Given the description of an element on the screen output the (x, y) to click on. 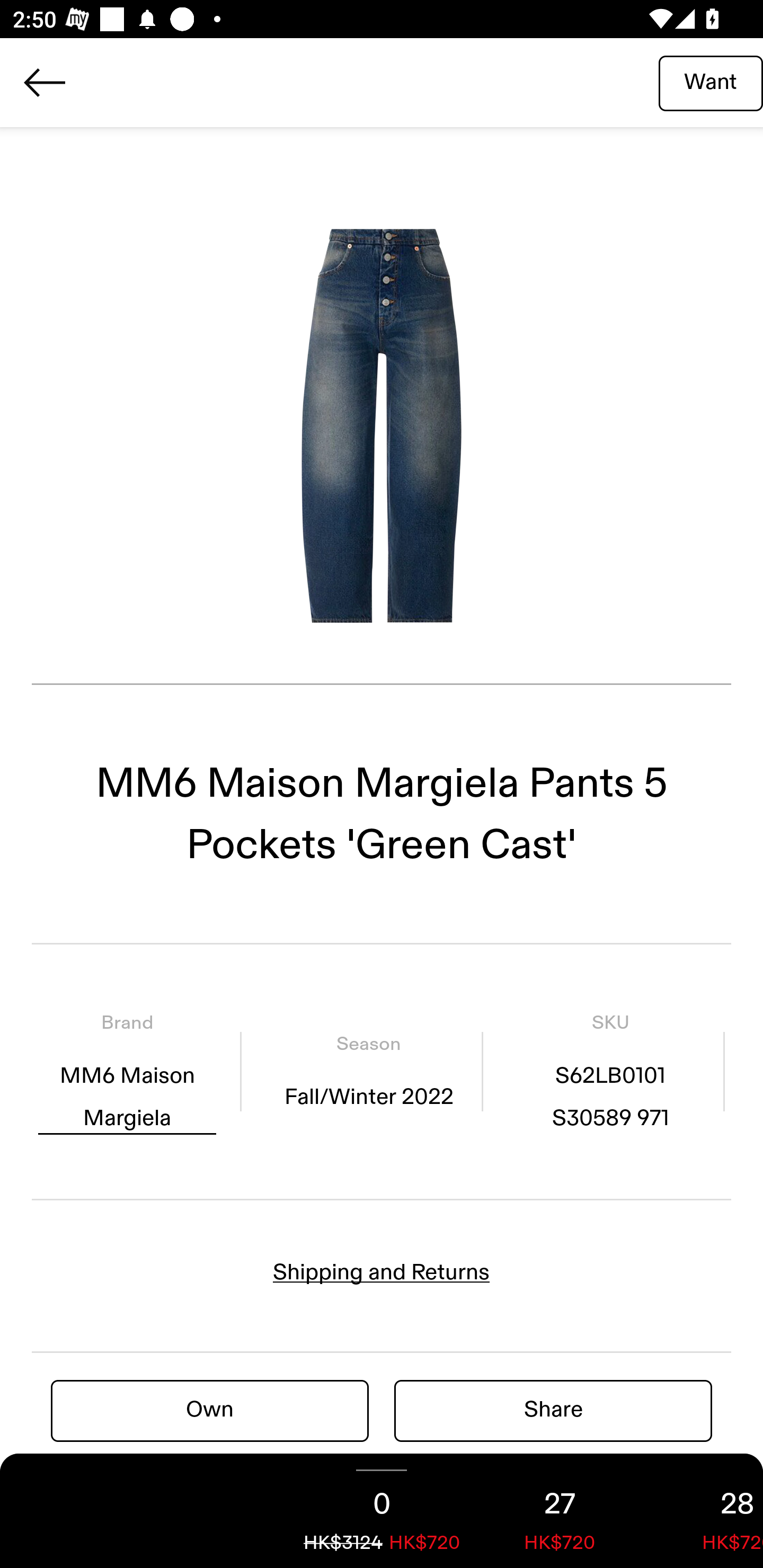
Want (710, 82)
Brand MM6 Maison Margiela (126, 1070)
Season Fall/Winter 2022 (368, 1070)
SKU S62LB0101 S30589 971 (609, 1070)
Shipping and Returns (381, 1272)
Own (209, 1410)
Share (552, 1410)
0 HK$3124 HK$720 (381, 1510)
27 HK$720 (559, 1510)
28 HK$720 (705, 1510)
